Given the description of an element on the screen output the (x, y) to click on. 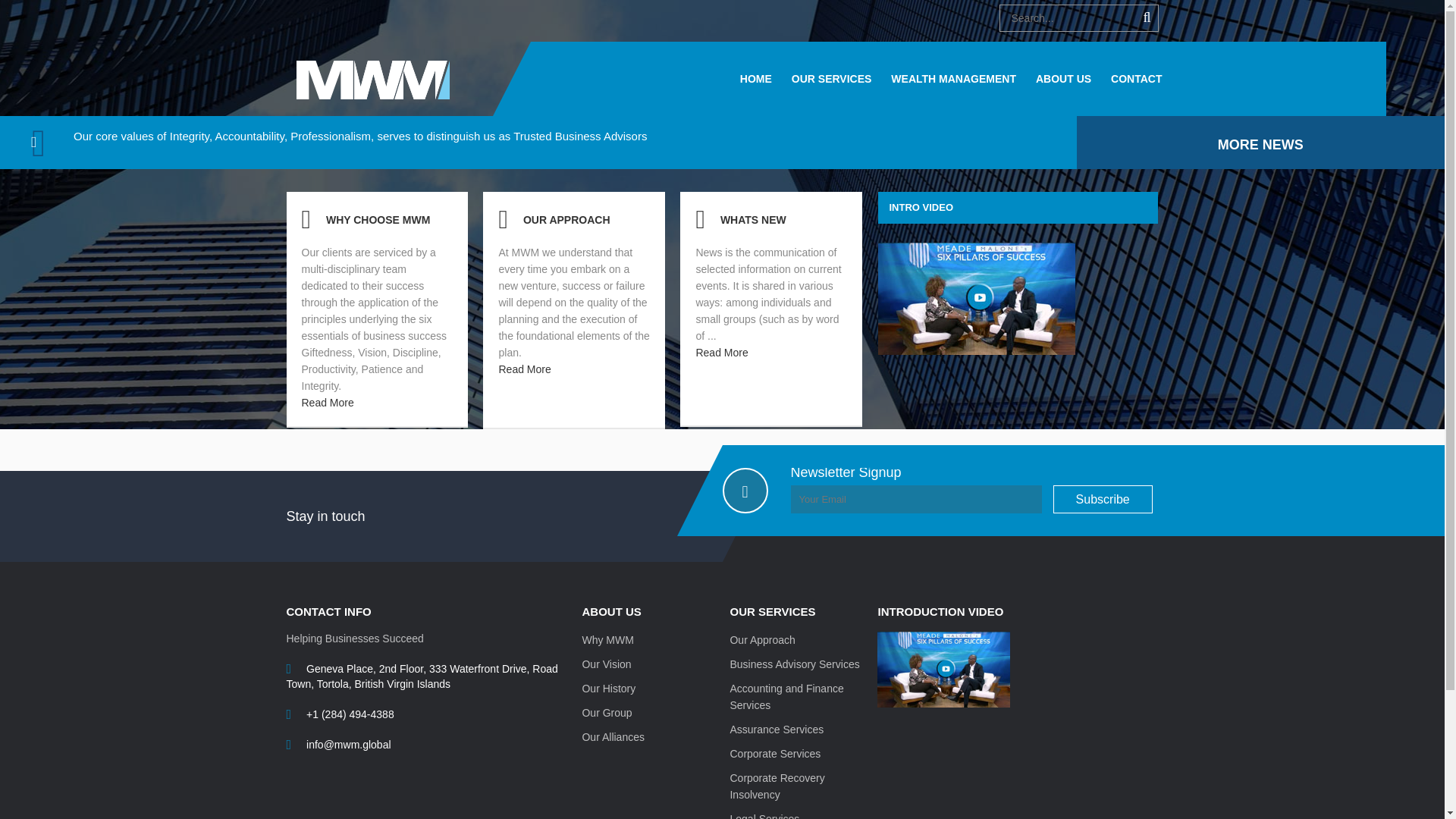
Subscribe (1102, 499)
CONTACT (1135, 78)
ABOUT US (1062, 78)
HOME (755, 78)
WEALTH MANAGEMENT (953, 78)
OUR SERVICES (832, 78)
